Given the description of an element on the screen output the (x, y) to click on. 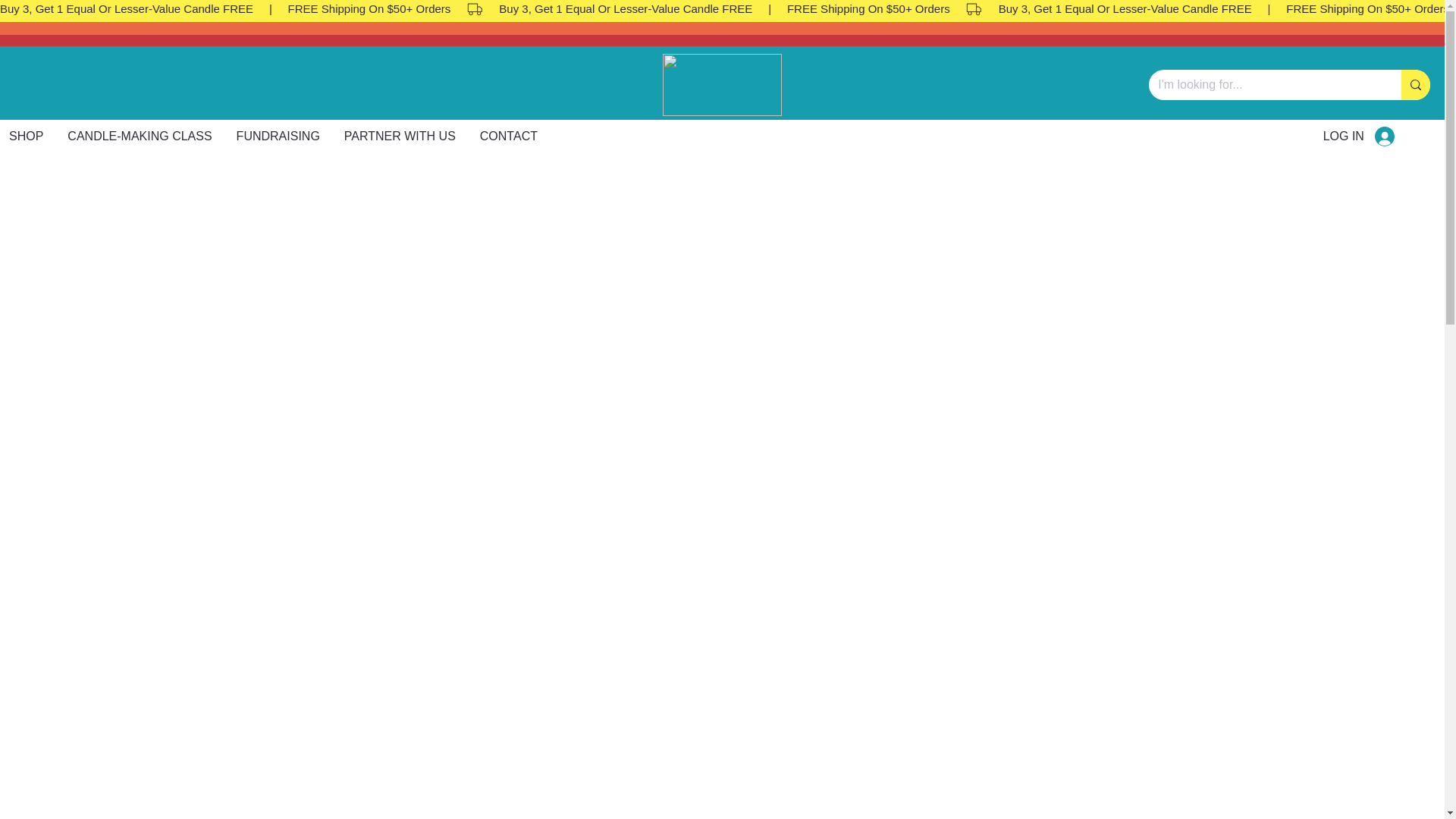
PARTNER WITH US (399, 136)
CONTACT (440, 136)
CANDLE-MAKING CLASS (508, 136)
LOG IN (138, 136)
FUNDRAISING (1359, 136)
